Given the description of an element on the screen output the (x, y) to click on. 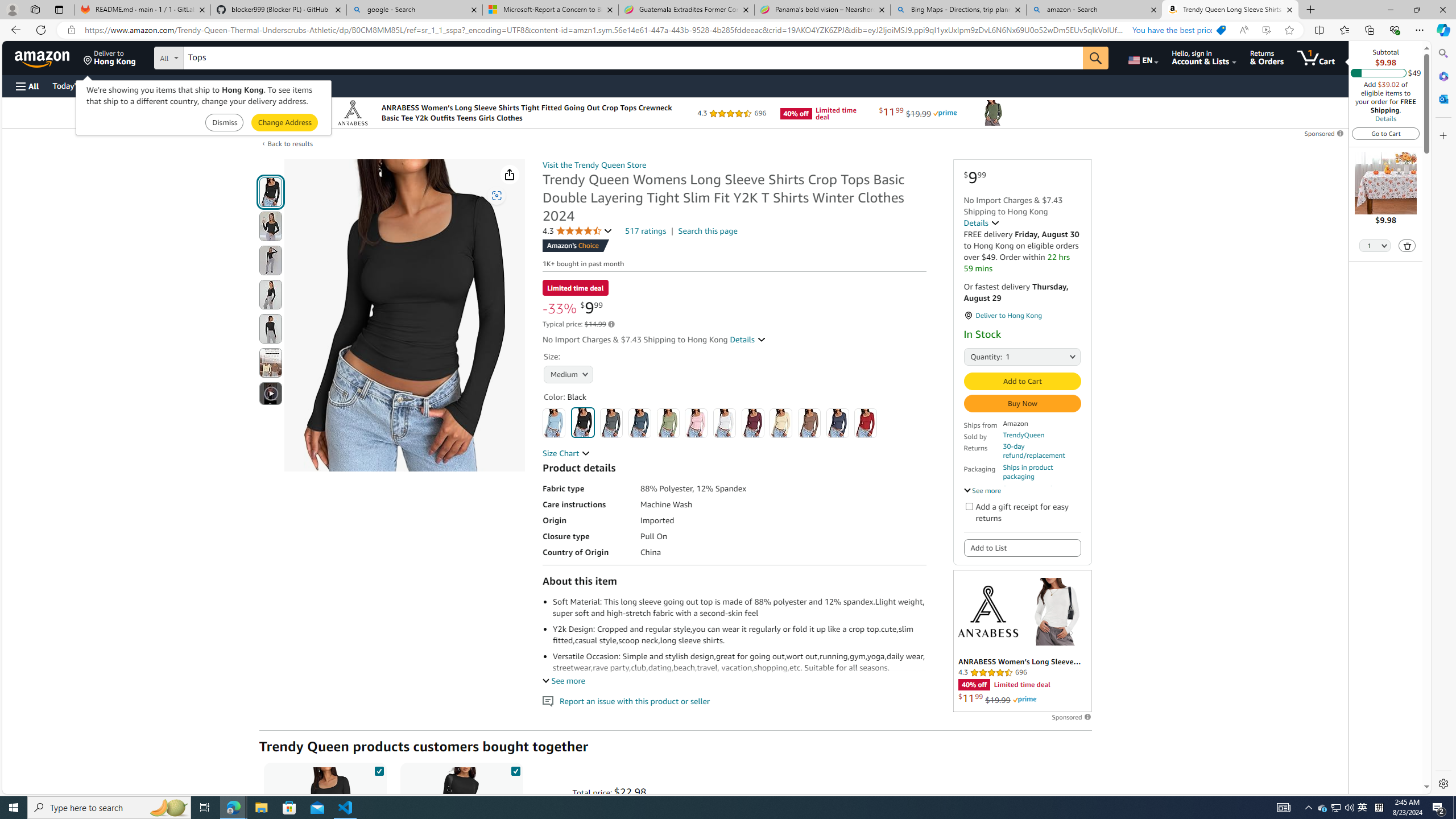
White (724, 422)
Search this page (708, 230)
Share (509, 174)
Navy (837, 422)
Navy (837, 422)
Add to List (1021, 547)
AutomationID: native_dropdown_selected_size_name (566, 373)
Back to results (290, 144)
Sponsored ad (1022, 640)
Light Green (667, 422)
